Given the description of an element on the screen output the (x, y) to click on. 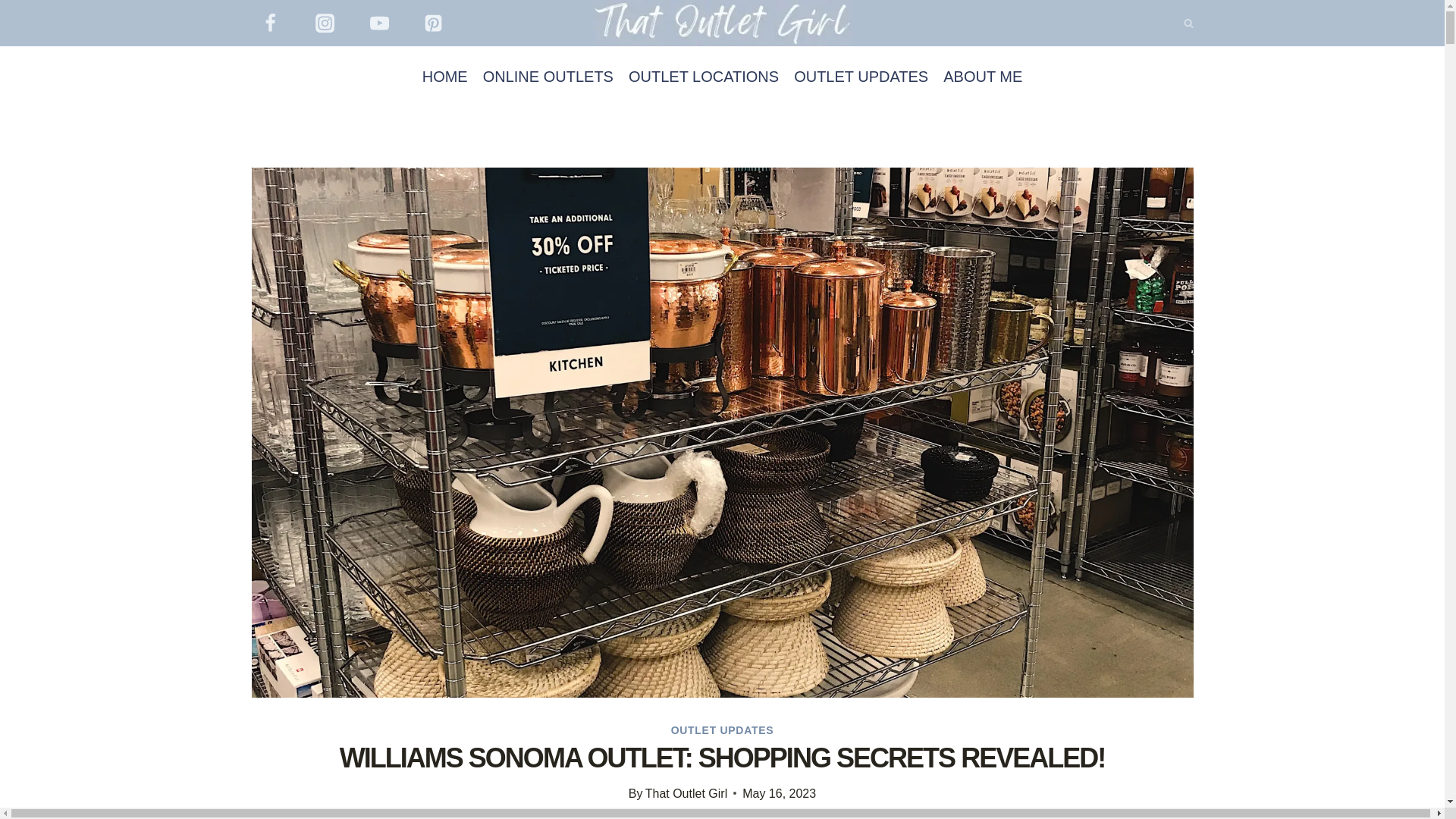
ABOUT ME (982, 76)
OUTLET UPDATES (861, 76)
OUTLET UPDATES (722, 729)
HOME (445, 76)
ONLINE OUTLETS (548, 76)
That Outlet Girl (685, 793)
OUTLET LOCATIONS (703, 76)
